Given the description of an element on the screen output the (x, y) to click on. 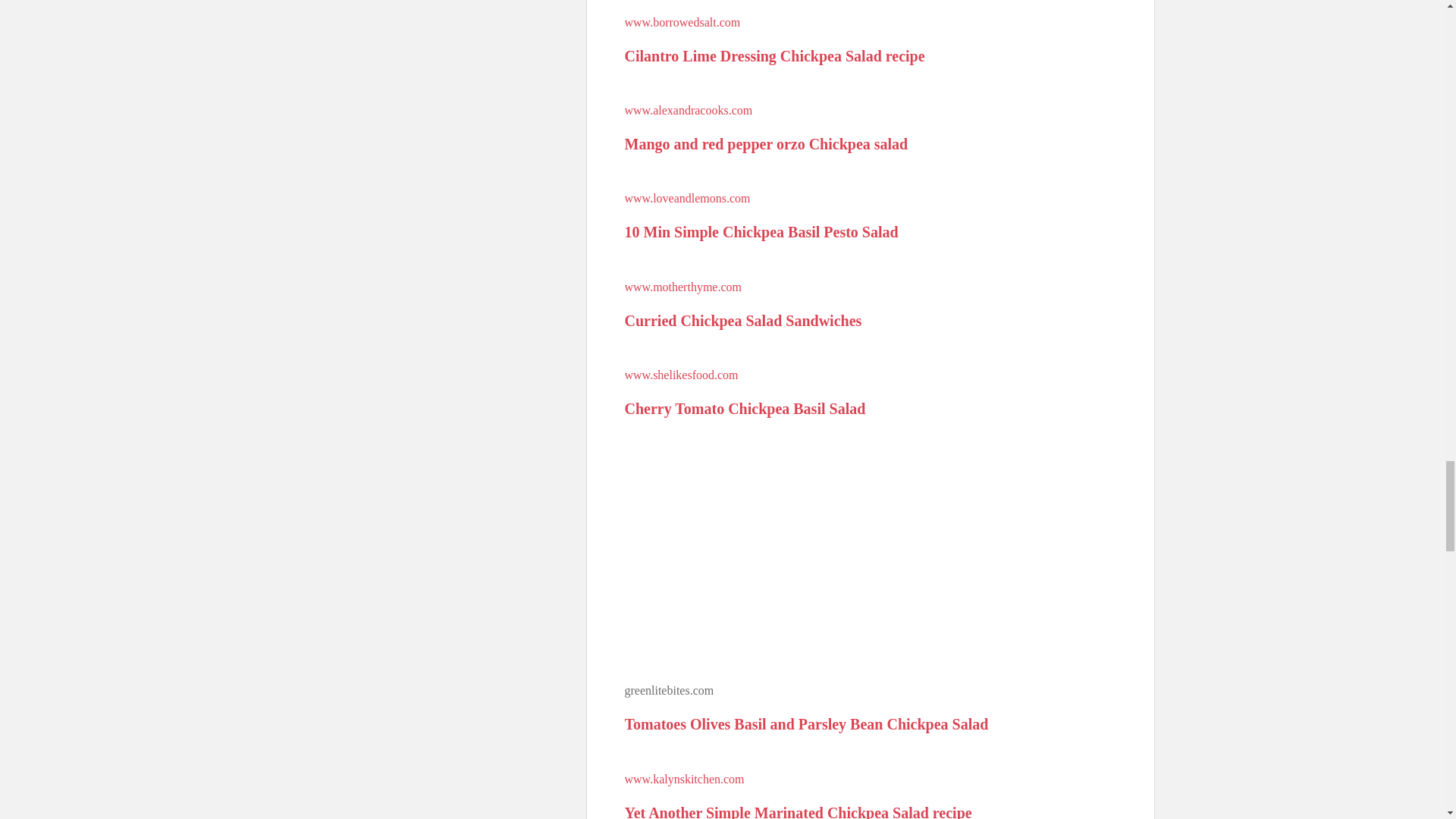
www.alexandracooks.com (688, 110)
www.loveandlemons.com (687, 197)
www.borrowedsalt.com (682, 21)
